Given the description of an element on the screen output the (x, y) to click on. 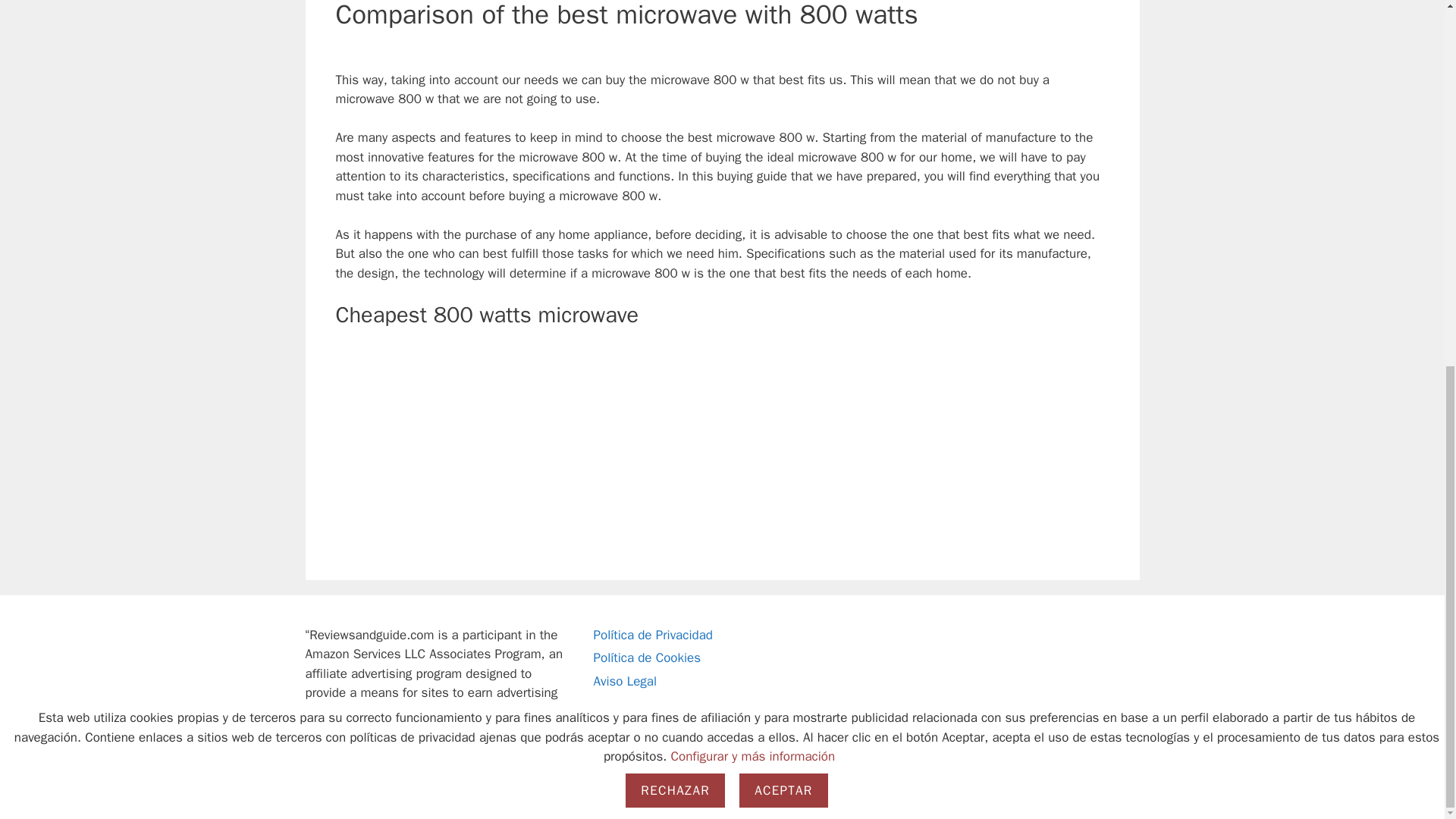
GeneratePress (549, 795)
Aviso Legal (624, 681)
ACEPTAR (783, 130)
RECHAZAR (674, 130)
